Given the description of an element on the screen output the (x, y) to click on. 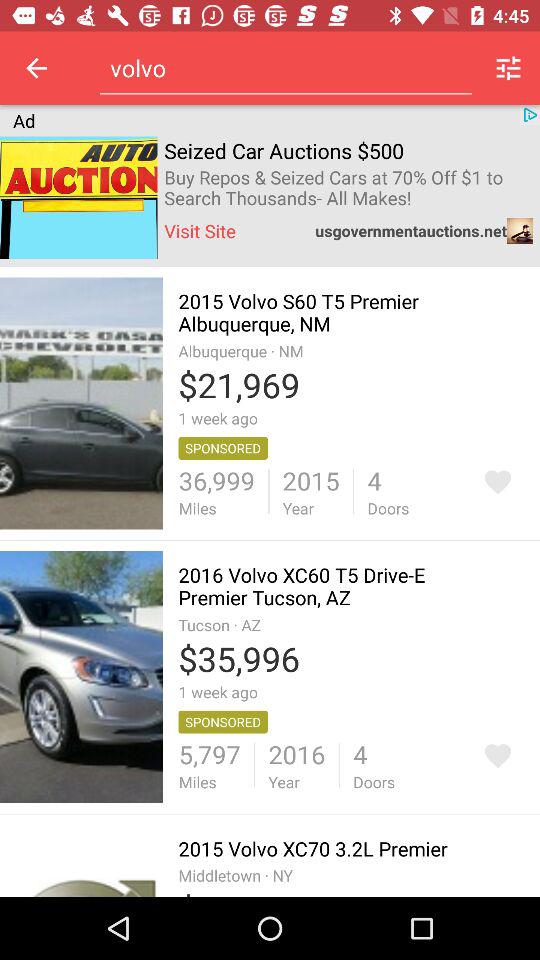
turn on the icon next to the usgovernmentauctions.net item (199, 230)
